Given the description of an element on the screen output the (x, y) to click on. 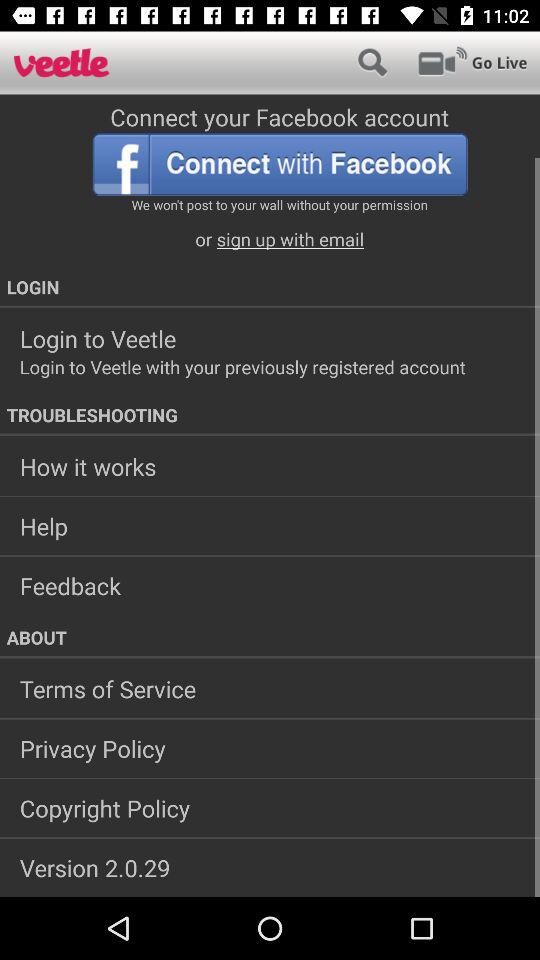
open about app (270, 637)
